Given the description of an element on the screen output the (x, y) to click on. 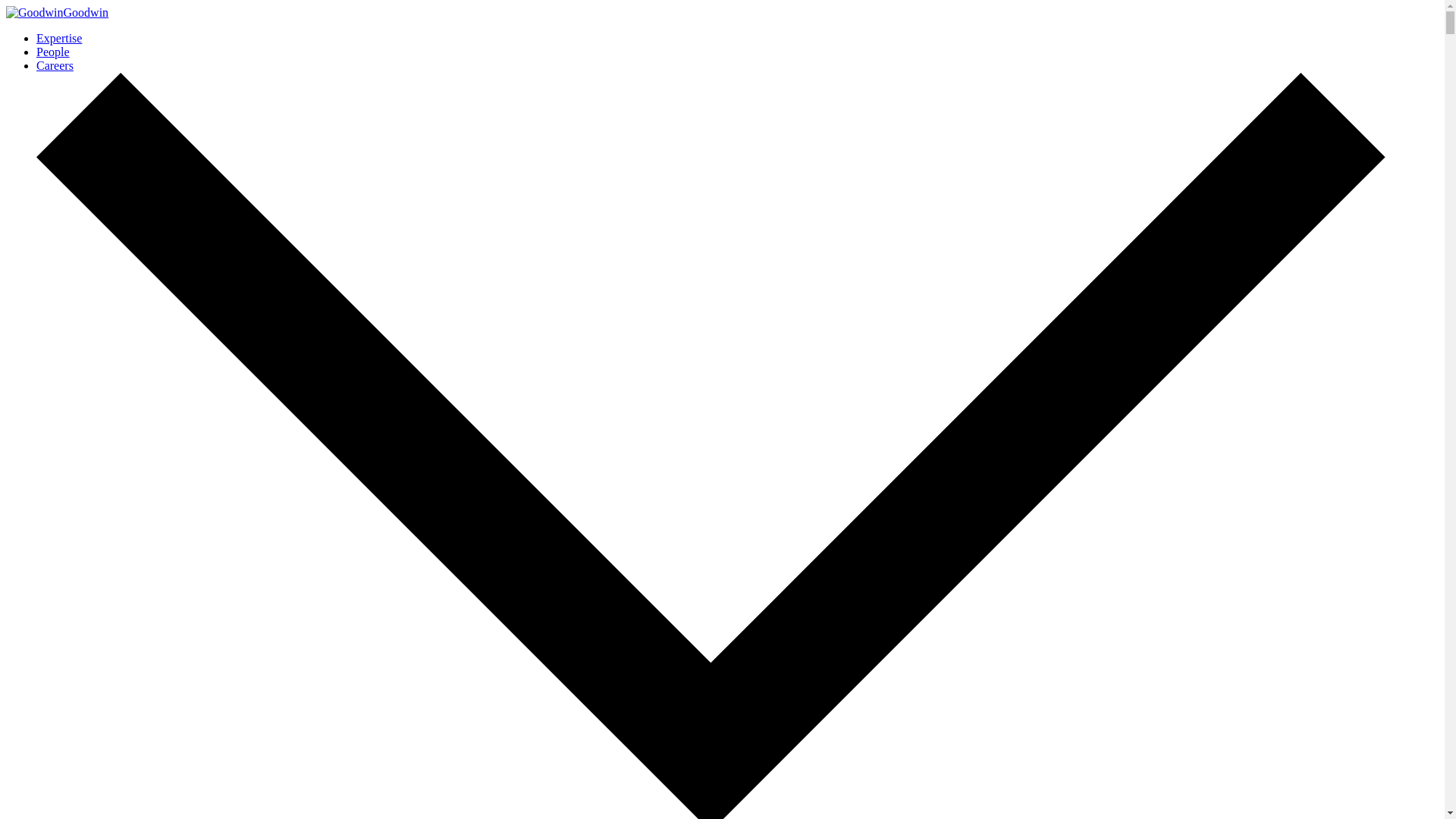
Goodwin (56, 11)
Expertise (58, 38)
People (52, 51)
